Given the description of an element on the screen output the (x, y) to click on. 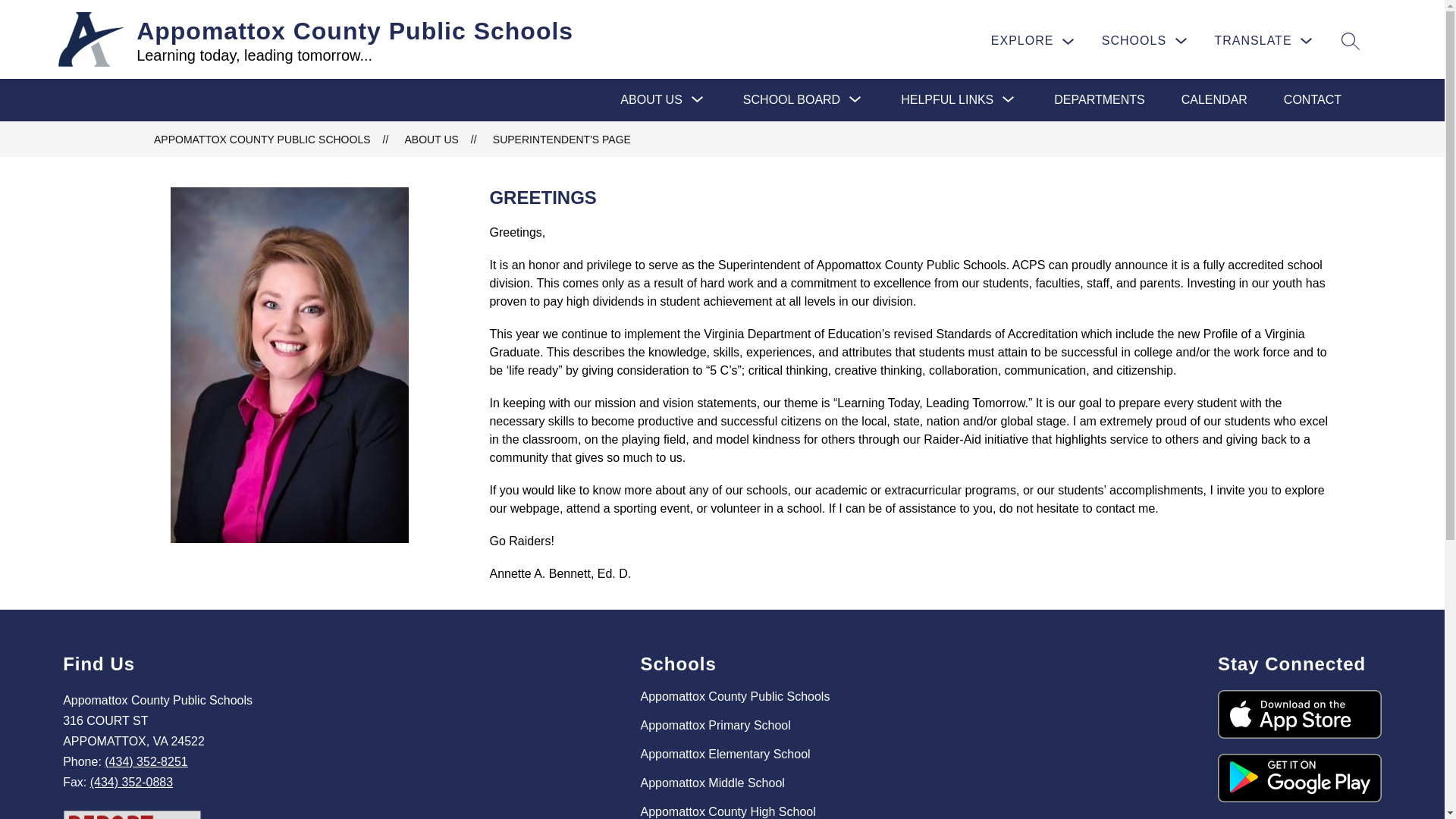
ABOUT US (651, 99)
DEPARTMENTS (1099, 99)
SEARCH (1349, 40)
CALENDAR (1213, 99)
CONTACT (1312, 99)
SCHOOL BOARD (791, 99)
CONTACT (1312, 99)
TRANSLATE (1265, 40)
HELPFUL LINKS (946, 99)
DEPARTMENTS (1099, 99)
